Given the description of an element on the screen output the (x, y) to click on. 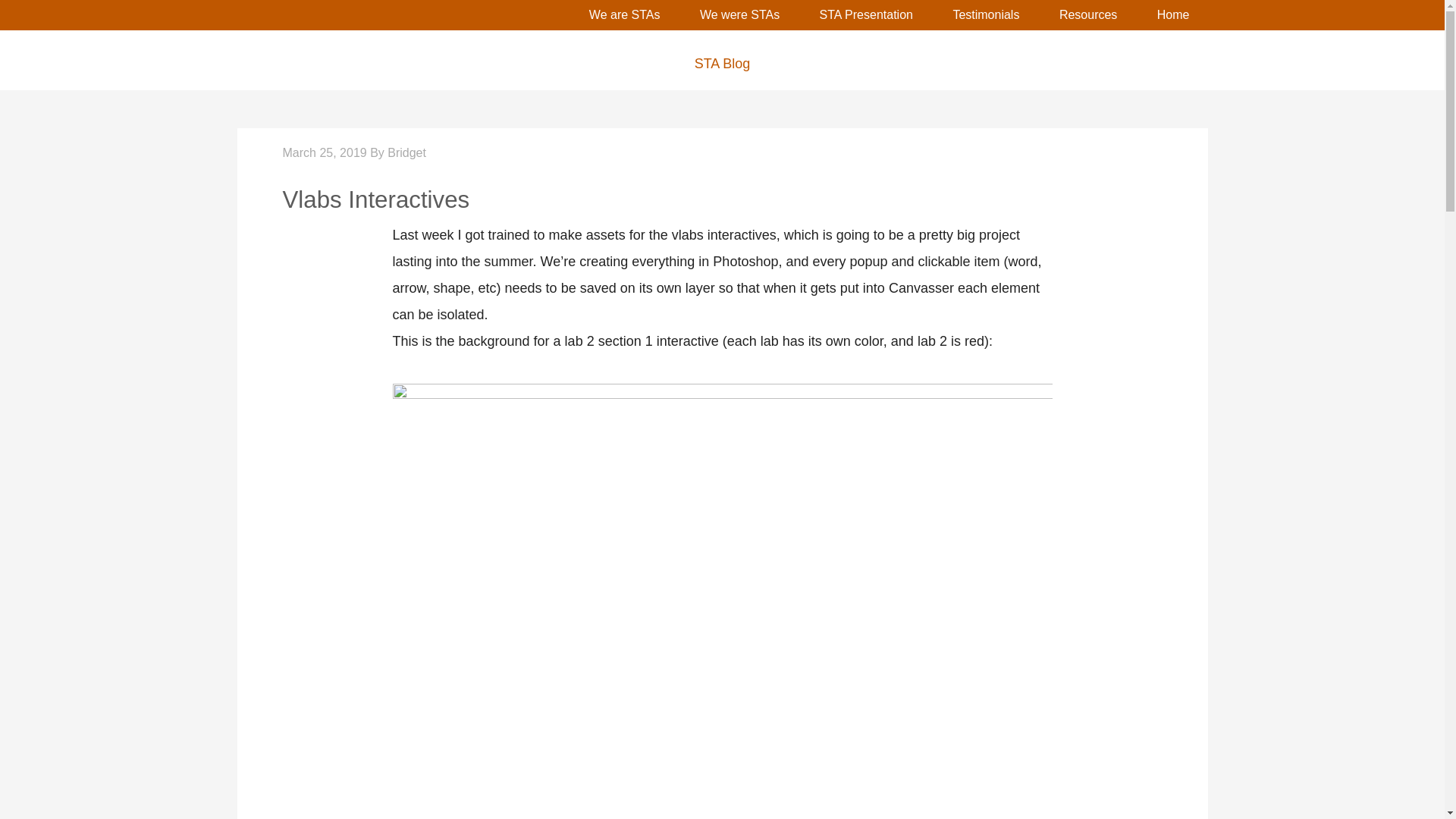
Resources (1088, 15)
STA Presentation (866, 15)
We were STAs (739, 15)
Bridget (406, 152)
Testimonials (985, 15)
STA Blog (721, 64)
We are STAs (624, 15)
Home (1173, 15)
